Given the description of an element on the screen output the (x, y) to click on. 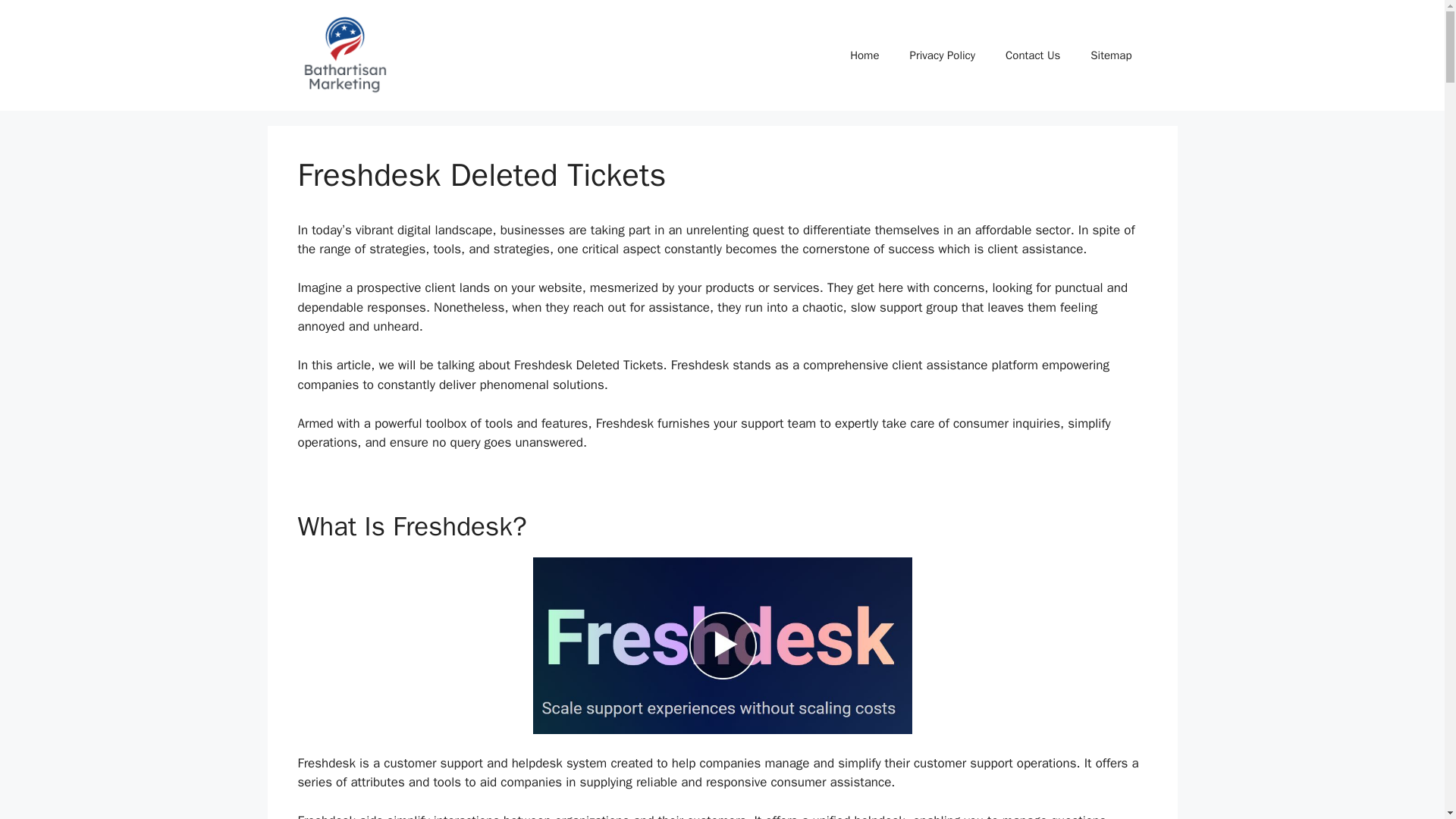
Home (863, 54)
Contact Us (1032, 54)
Privacy Policy (941, 54)
Sitemap (1111, 54)
